Given the description of an element on the screen output the (x, y) to click on. 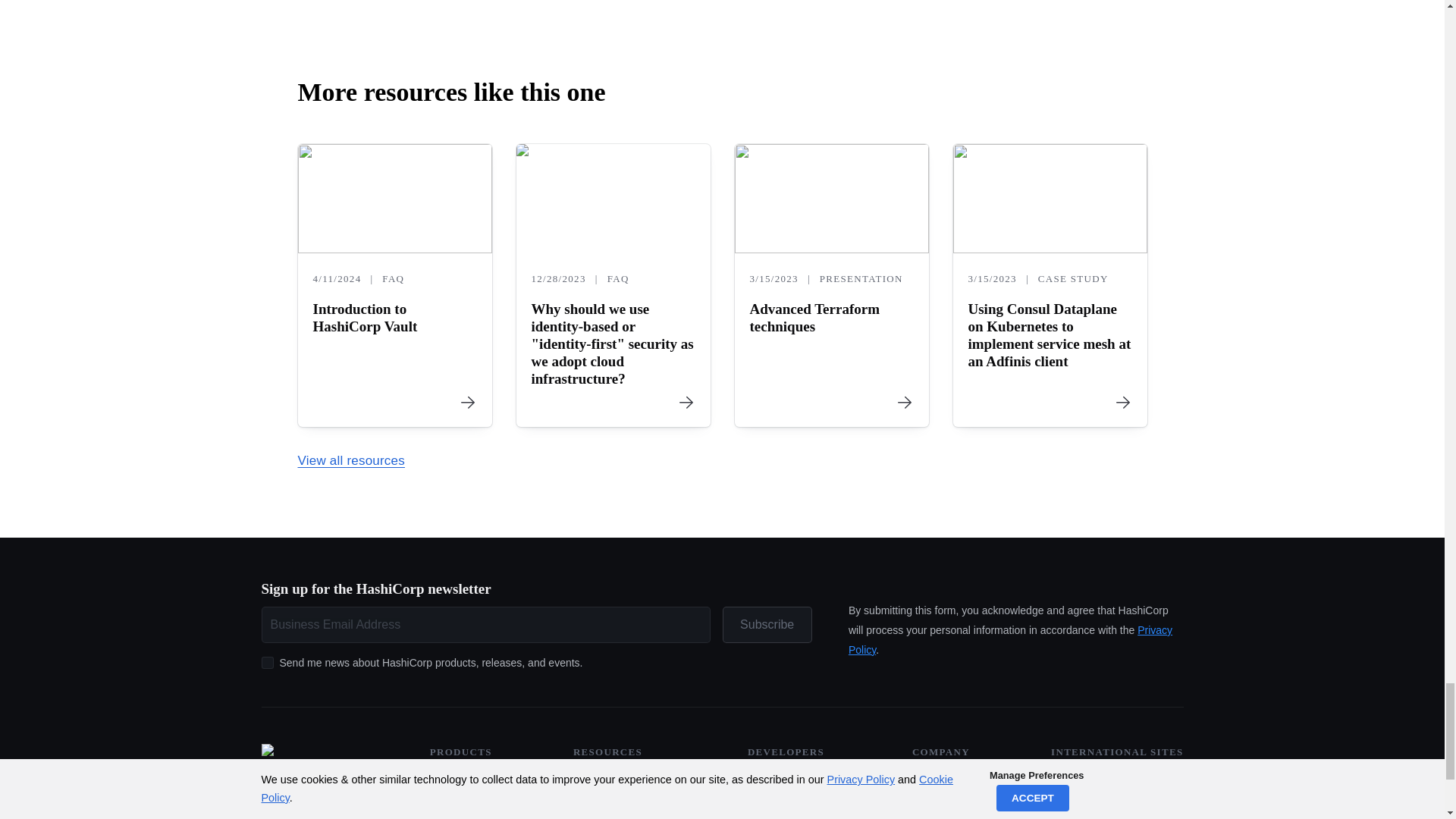
on (266, 662)
